Given the description of an element on the screen output the (x, y) to click on. 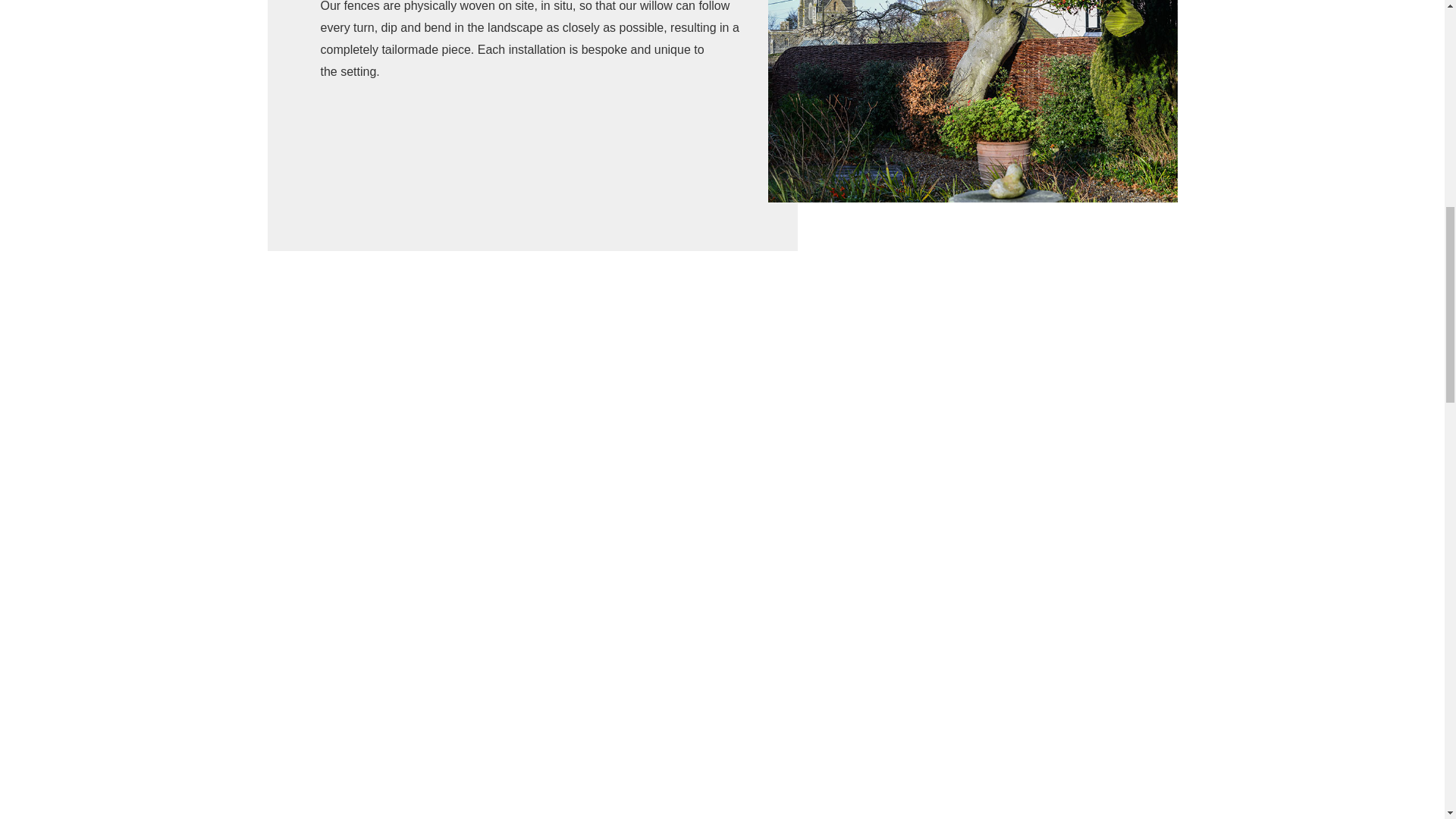
willow-fence-in-suffolk-garden (971, 101)
